Given the description of an element on the screen output the (x, y) to click on. 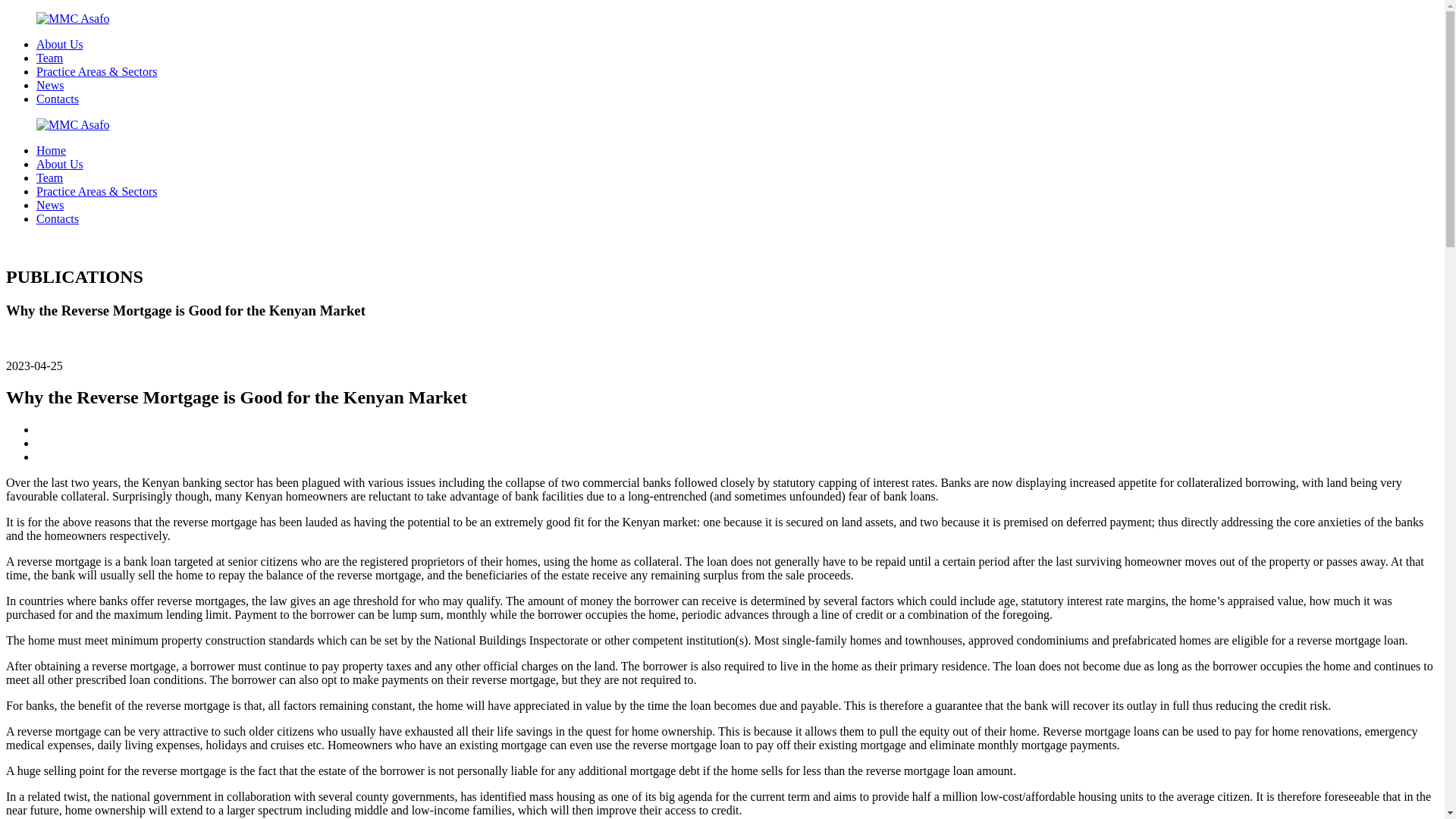
News (50, 205)
Team (49, 57)
Contacts (57, 98)
Home (50, 150)
About Us (59, 43)
Contacts (57, 218)
Team (49, 177)
About Us (59, 164)
News (50, 84)
